Given the description of an element on the screen output the (x, y) to click on. 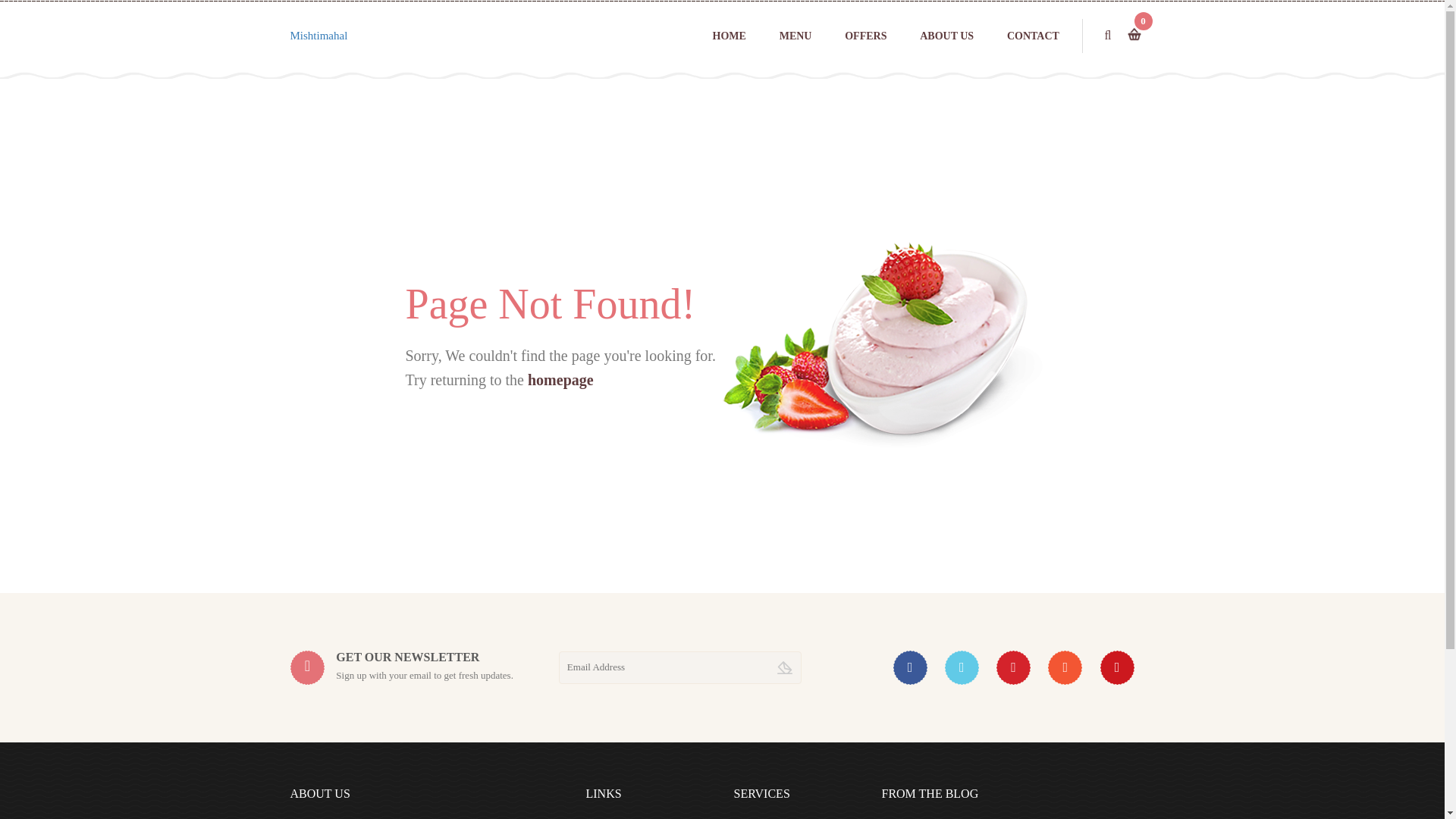
OFFERS (865, 35)
HOME (729, 35)
Mishtimahal - Best Mishti Shop in the US! (318, 35)
homepage (560, 379)
Mishtimahal (318, 35)
CONTACT (1032, 35)
MENU (795, 35)
ABOUT US (946, 35)
